Given the description of an element on the screen output the (x, y) to click on. 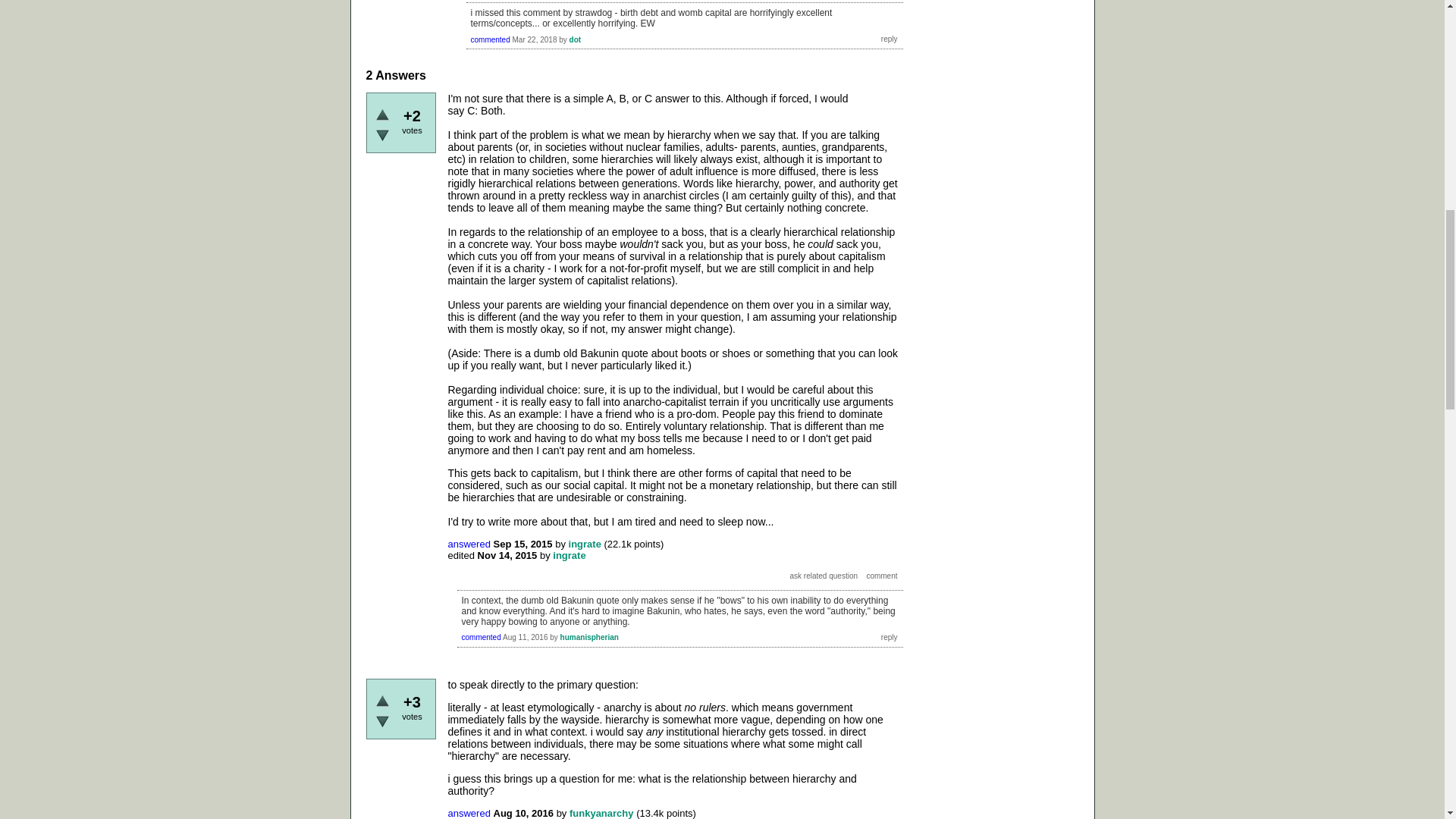
ask related question (824, 575)
Reply to this comment (889, 39)
reply (889, 39)
reply (889, 637)
comment (881, 575)
dot (574, 40)
Click to vote up (381, 114)
reply (889, 39)
commented (489, 40)
